Given the description of an element on the screen output the (x, y) to click on. 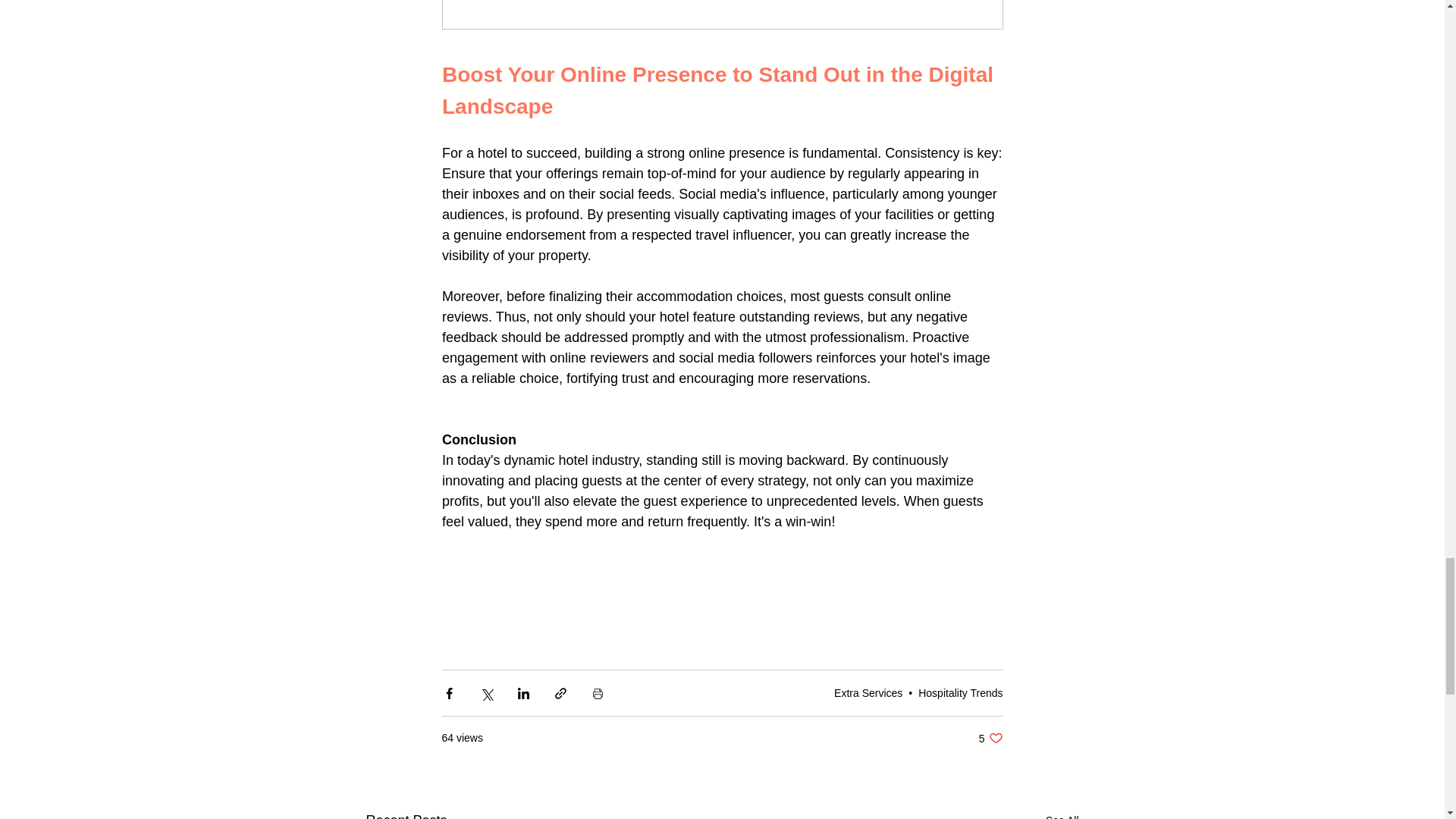
See All (1061, 814)
Extra Services (990, 738)
digital concierge in hotels (868, 693)
increase hotel revenue (617, 636)
Hospitality Trends (739, 636)
improve guest experience in hotels (960, 693)
hotel management tips (884, 636)
